Given the description of an element on the screen output the (x, y) to click on. 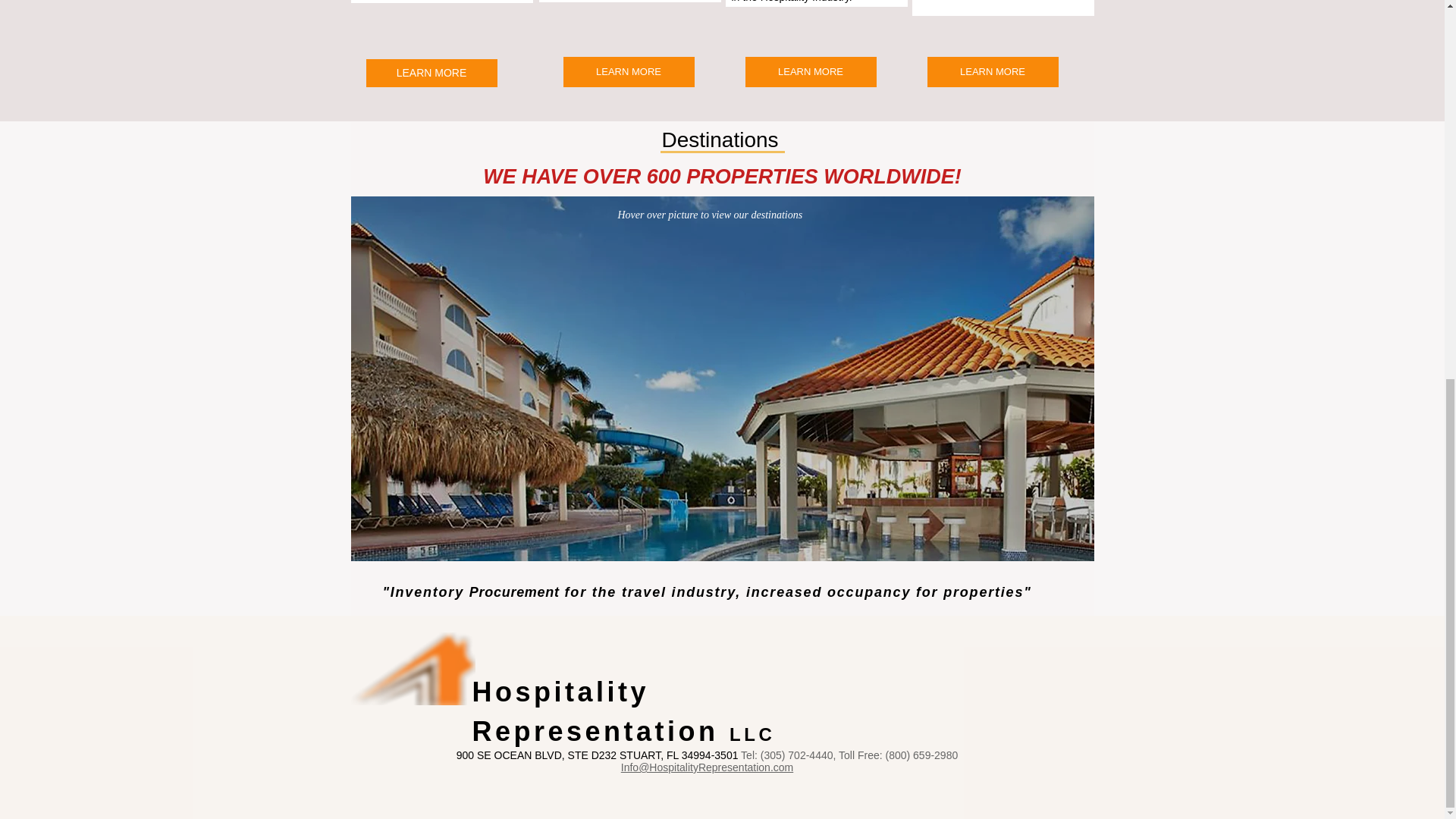
LEARN MORE (992, 71)
LEARN MORE (628, 71)
LEARN MORE (430, 72)
LEARN MORE (810, 71)
